Given the description of an element on the screen output the (x, y) to click on. 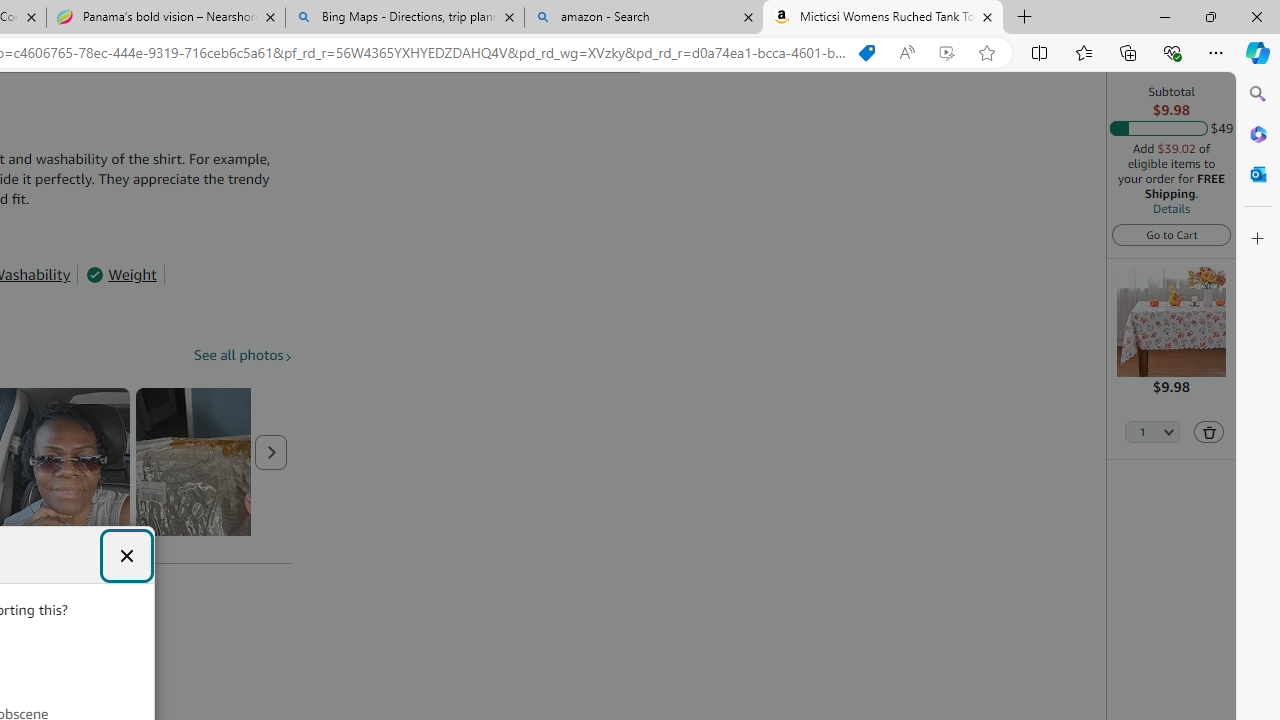
Shopping in Microsoft Edge (867, 53)
Next page (271, 452)
Weight (121, 274)
